Given the description of an element on the screen output the (x, y) to click on. 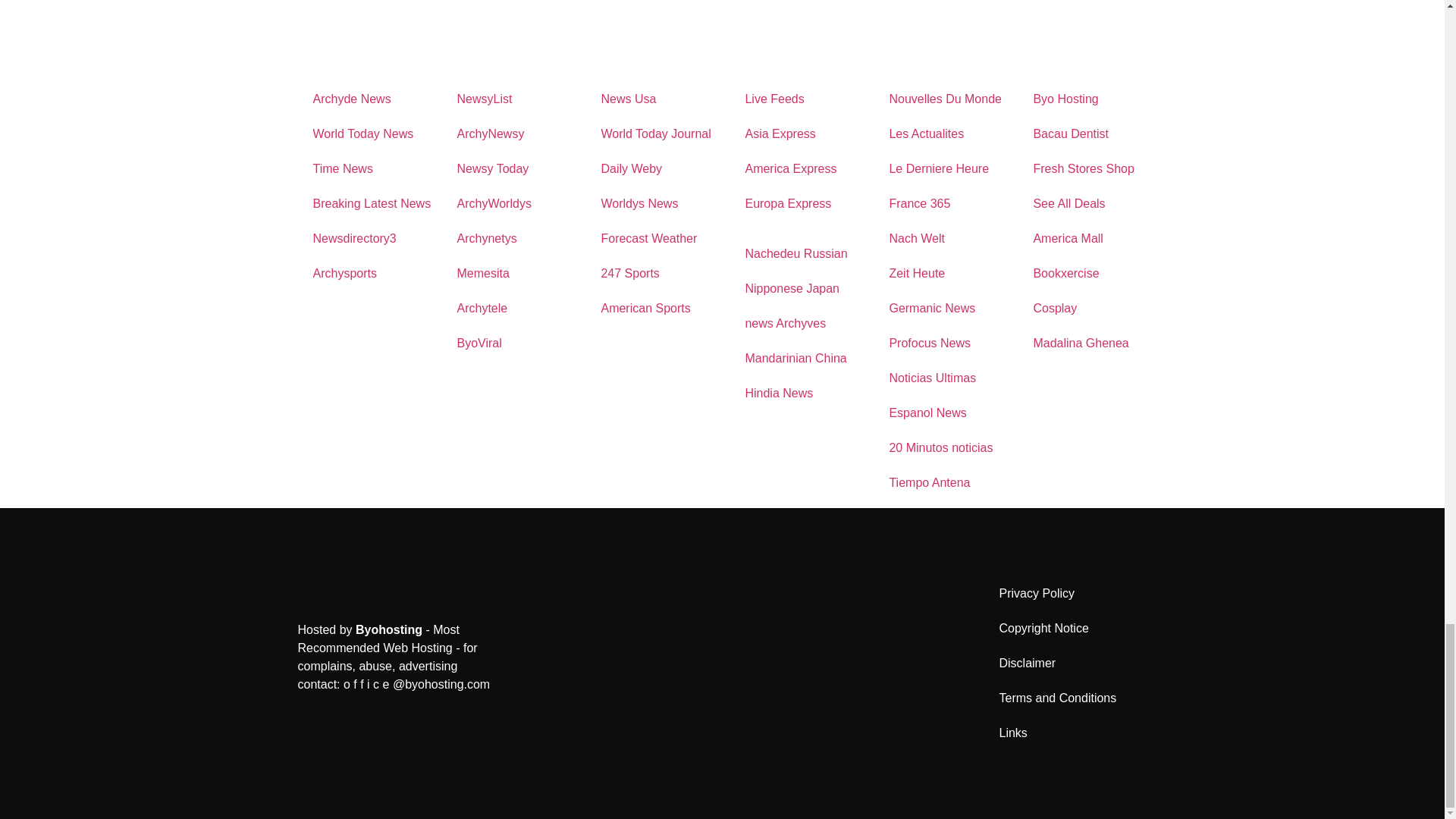
Most Recommended WebHosting (388, 629)
